Given the description of an element on the screen output the (x, y) to click on. 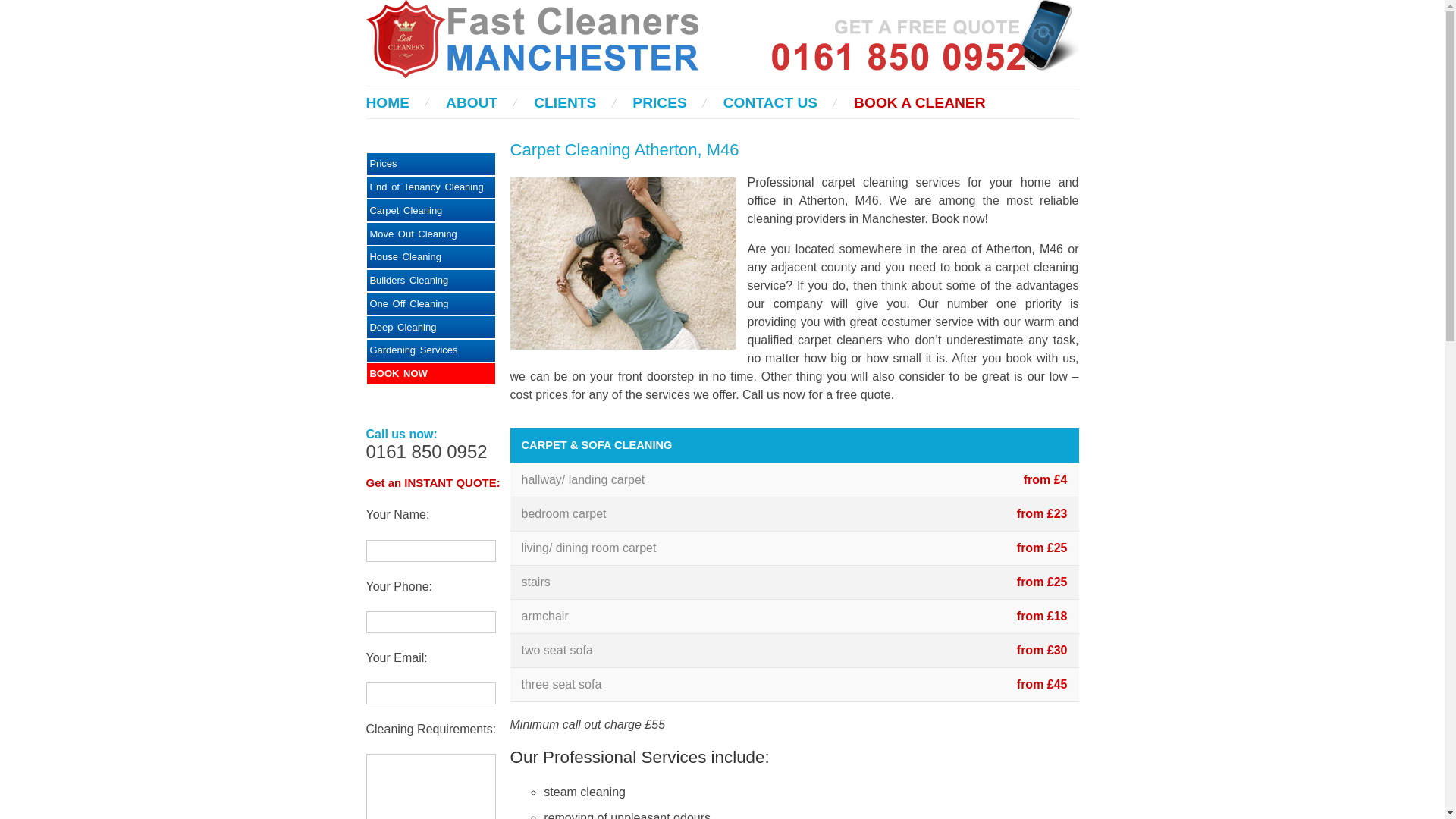
One Off Cleaning Service (430, 303)
Carpet Cleaning Service (430, 210)
Builders Cleaning Service (430, 280)
BOOK A CLEANER (919, 102)
Carpet Cleaning (430, 210)
Prices (430, 164)
Deep Cleaning Service (430, 350)
CLIENTS (564, 102)
BOOK NOW (430, 373)
Builders Cleaning (430, 280)
